Given the description of an element on the screen output the (x, y) to click on. 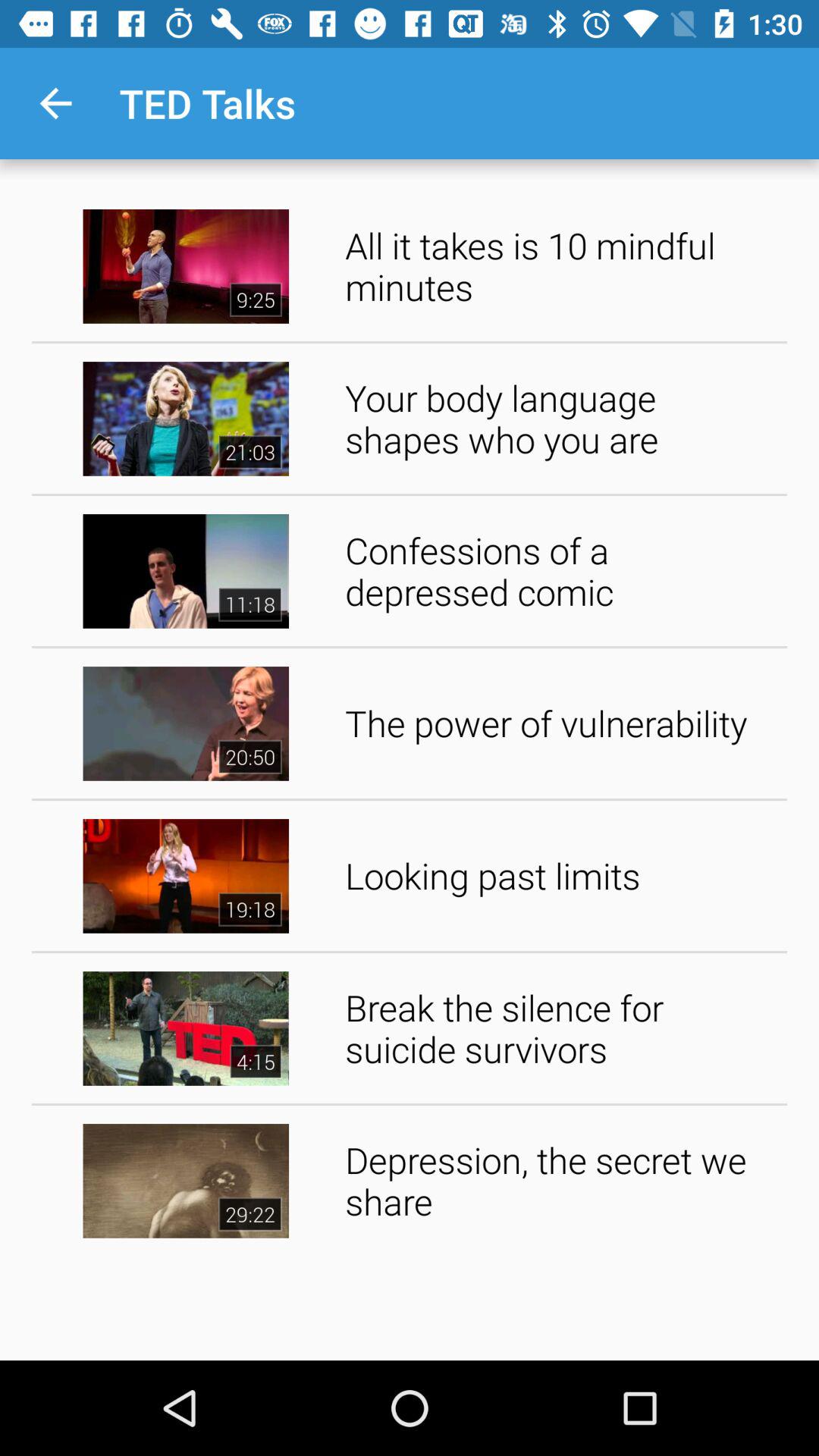
open the icon above the your body language app (560, 266)
